Given the description of an element on the screen output the (x, y) to click on. 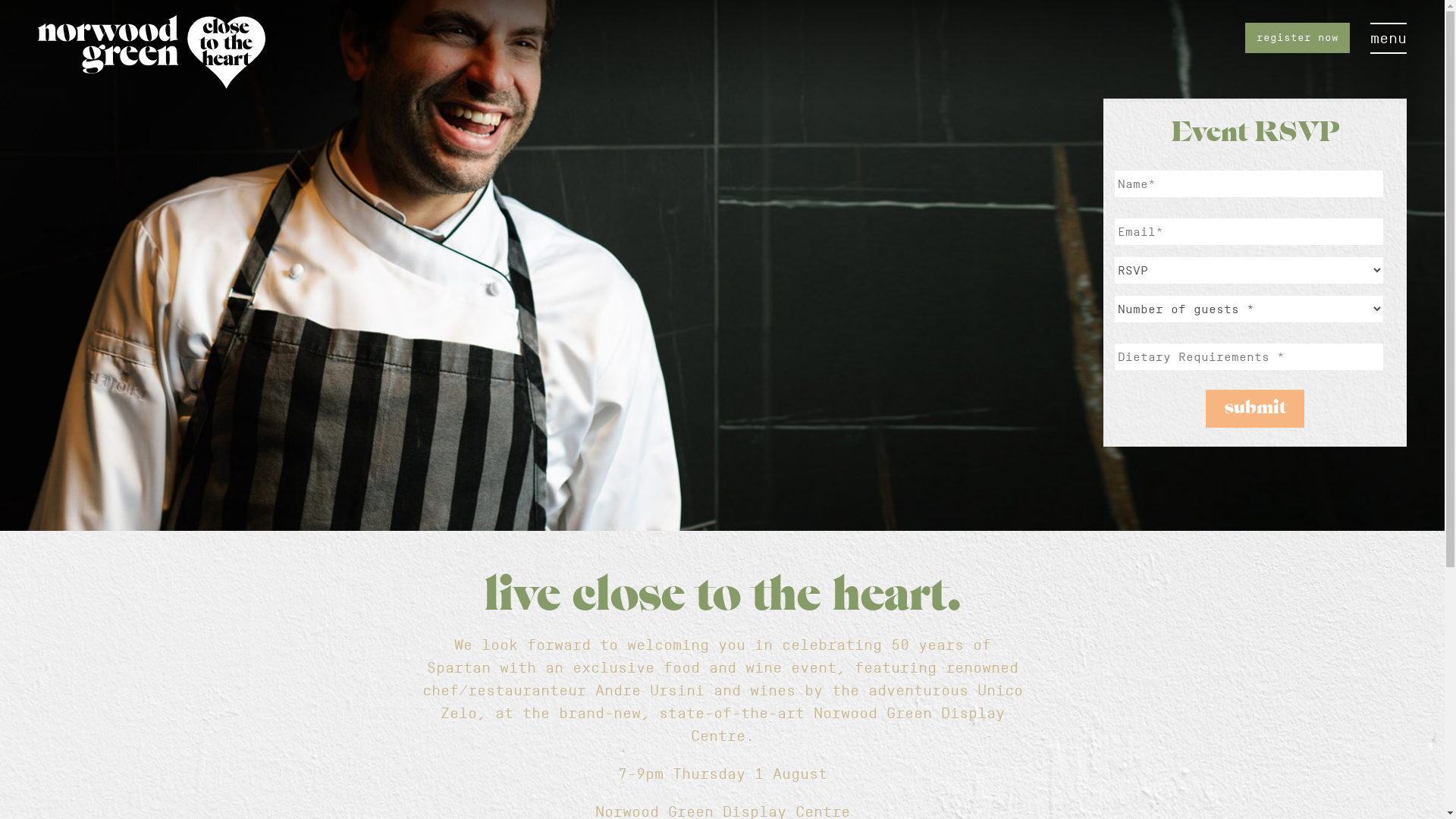
menu Element type: text (1388, 37)
Submit Element type: text (1254, 408)
register now Element type: text (1297, 37)
